Given the description of an element on the screen output the (x, y) to click on. 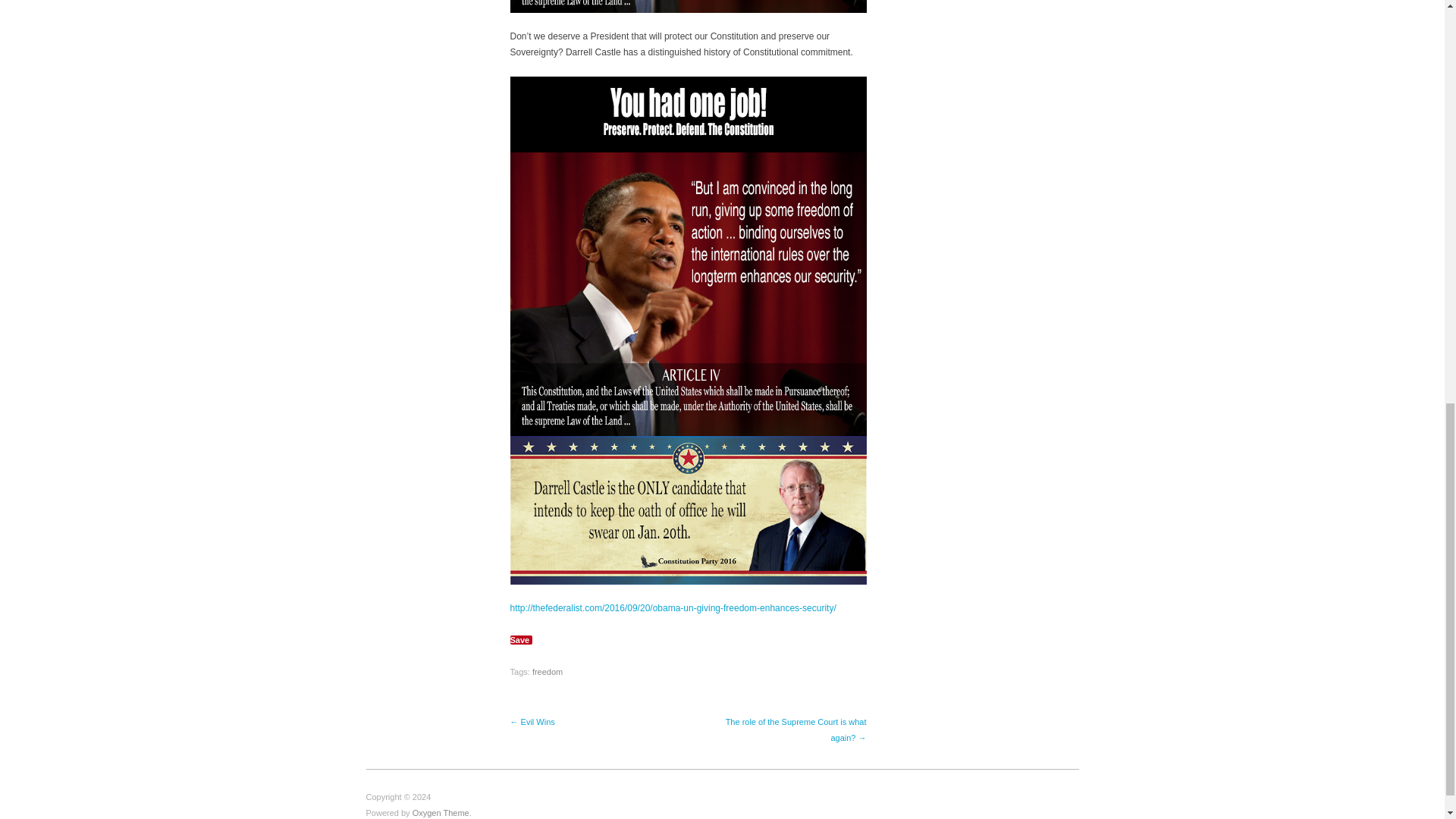
freedom (547, 671)
Oxygen Theme (440, 812)
